Given the description of an element on the screen output the (x, y) to click on. 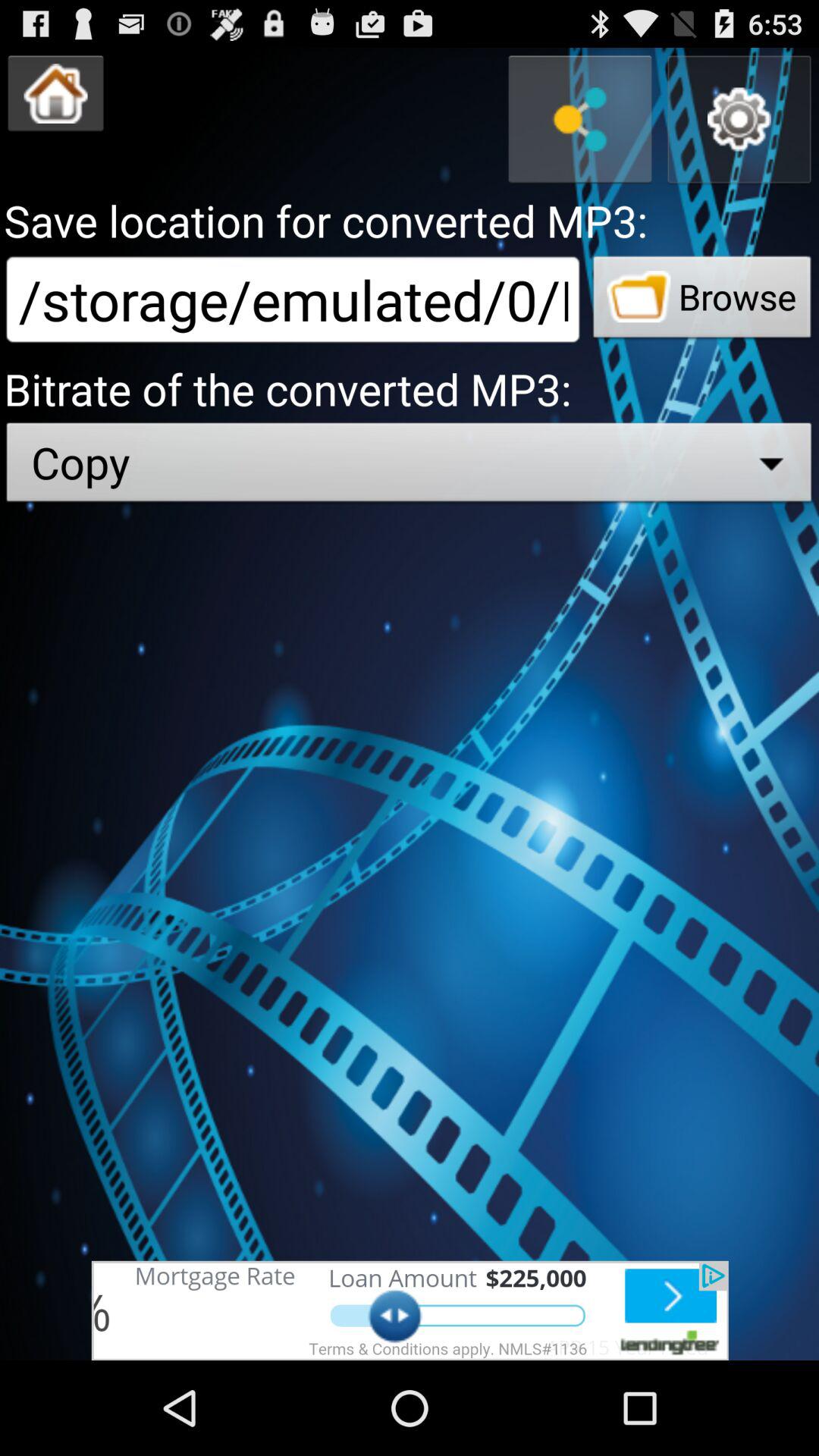
go to app settings (739, 119)
